Given the description of an element on the screen output the (x, y) to click on. 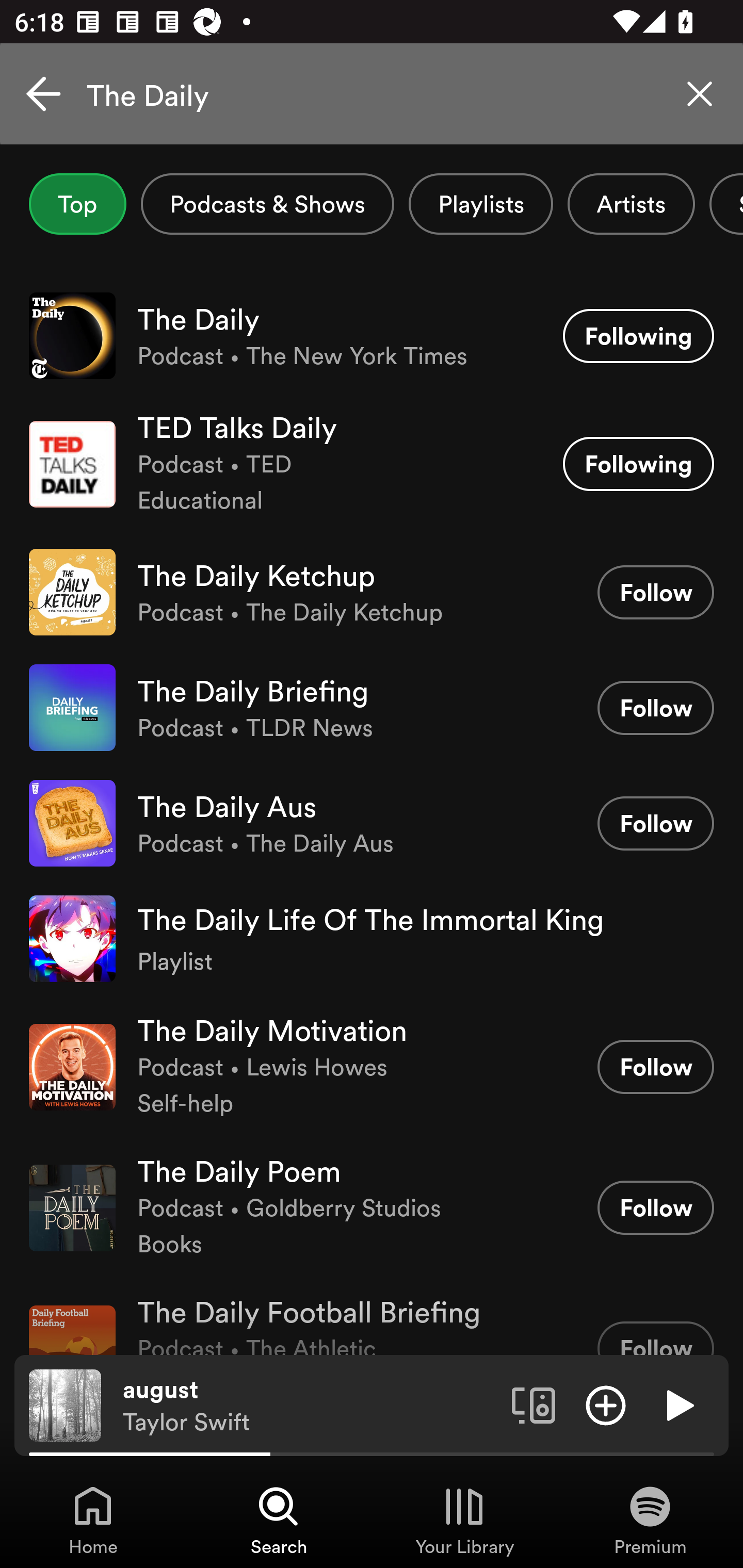
The Daily (371, 93)
Cancel (43, 93)
Clear search query (699, 93)
Top (77, 203)
Podcasts & Shows (267, 203)
Playlists (480, 203)
Artists (630, 203)
Following Unfollow (638, 335)
Following Unfollow (638, 463)
Follow (655, 592)
Follow (655, 707)
Follow (655, 822)
The Daily Life Of The Immortal King Playlist (371, 939)
Follow (655, 1066)
Follow (655, 1207)
Follow (655, 1337)
august Taylor Swift (309, 1405)
The cover art of the currently playing track (64, 1404)
Connect to a device. Opens the devices menu (533, 1404)
Add item (605, 1404)
Play (677, 1404)
Home, Tab 1 of 4 Home Home (92, 1519)
Search, Tab 2 of 4 Search Search (278, 1519)
Your Library, Tab 3 of 4 Your Library Your Library (464, 1519)
Premium, Tab 4 of 4 Premium Premium (650, 1519)
